Given the description of an element on the screen output the (x, y) to click on. 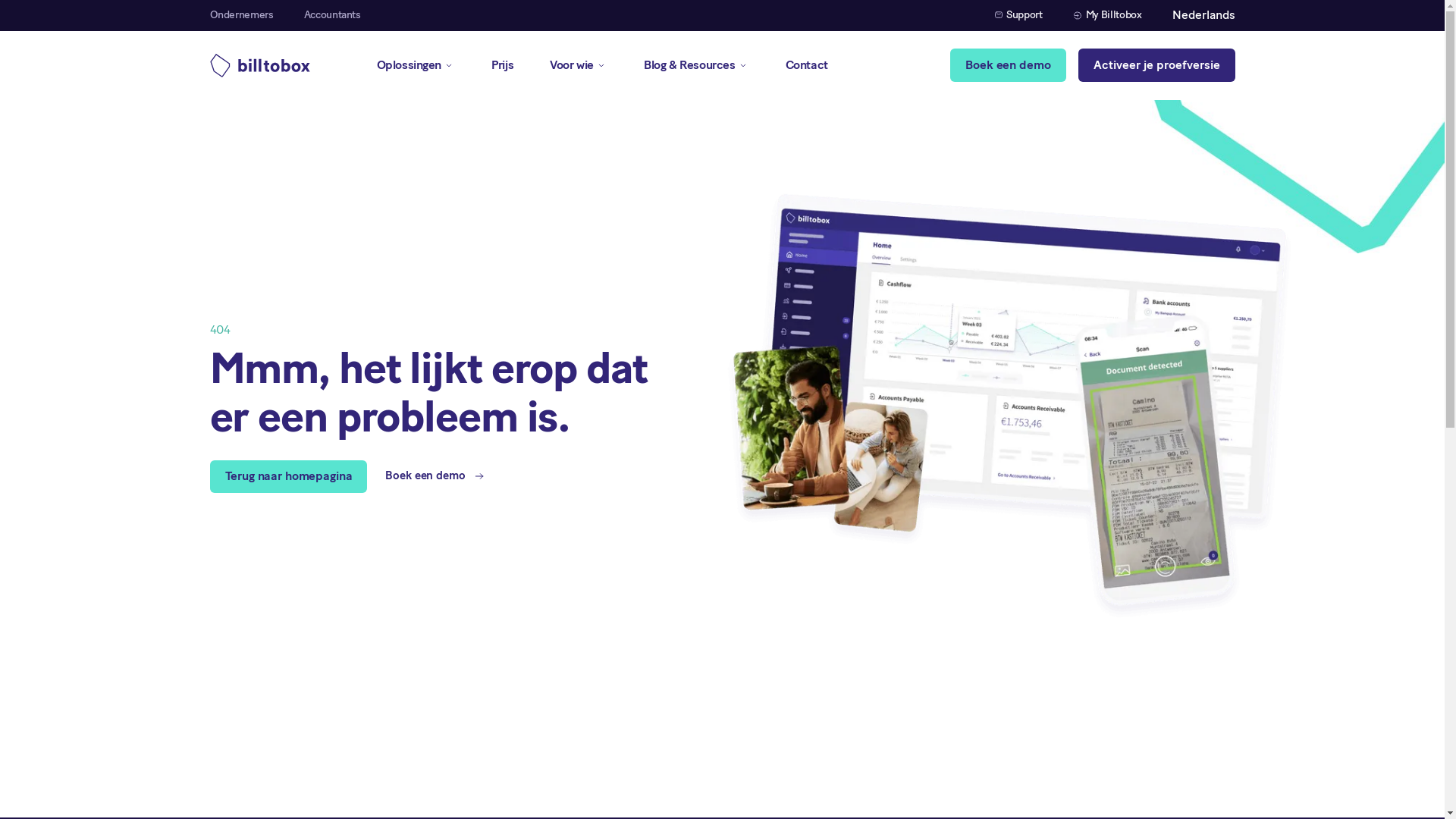
Support Element type: text (1018, 15)
Boek een demo Element type: text (434, 476)
Terug naar homepagina Element type: text (288, 476)
Contact Element type: text (806, 65)
Prijs Element type: text (502, 65)
My Billtobox Element type: text (1107, 15)
Ondernemers Element type: text (241, 15)
Accountants Element type: text (332, 15)
Activeer je proefversie Element type: text (1156, 64)
Boek een demo Element type: text (1007, 64)
